Given the description of an element on the screen output the (x, y) to click on. 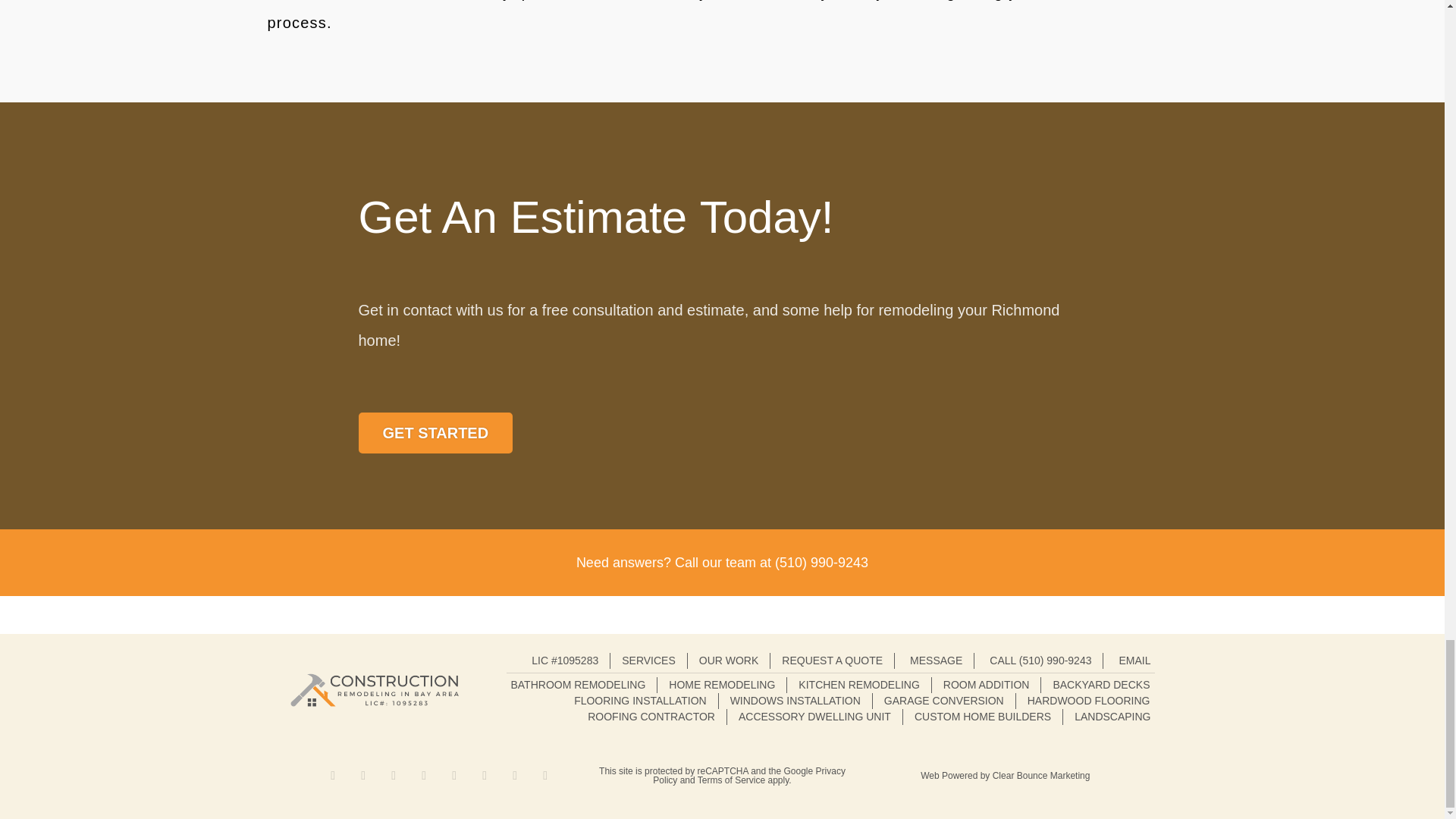
REQUEST A QUOTE (831, 660)
HARDWOOD FLOORING (1088, 700)
BATHROOM REMODELING (578, 684)
OUR WORK (728, 660)
EMAIL (1132, 660)
SERVICES (648, 660)
GARAGE CONVERSION (943, 700)
ROOM ADDITION (986, 684)
ACCESSORY DWELLING UNIT (814, 716)
FLOORING INSTALLATION (639, 700)
CUSTOM HOME BUILDERS (982, 716)
KITCHEN REMODELING (857, 684)
GET STARTED (435, 432)
ROOFING CONTRACTOR (651, 716)
WINDOWS INSTALLATION (795, 700)
